Given the description of an element on the screen output the (x, y) to click on. 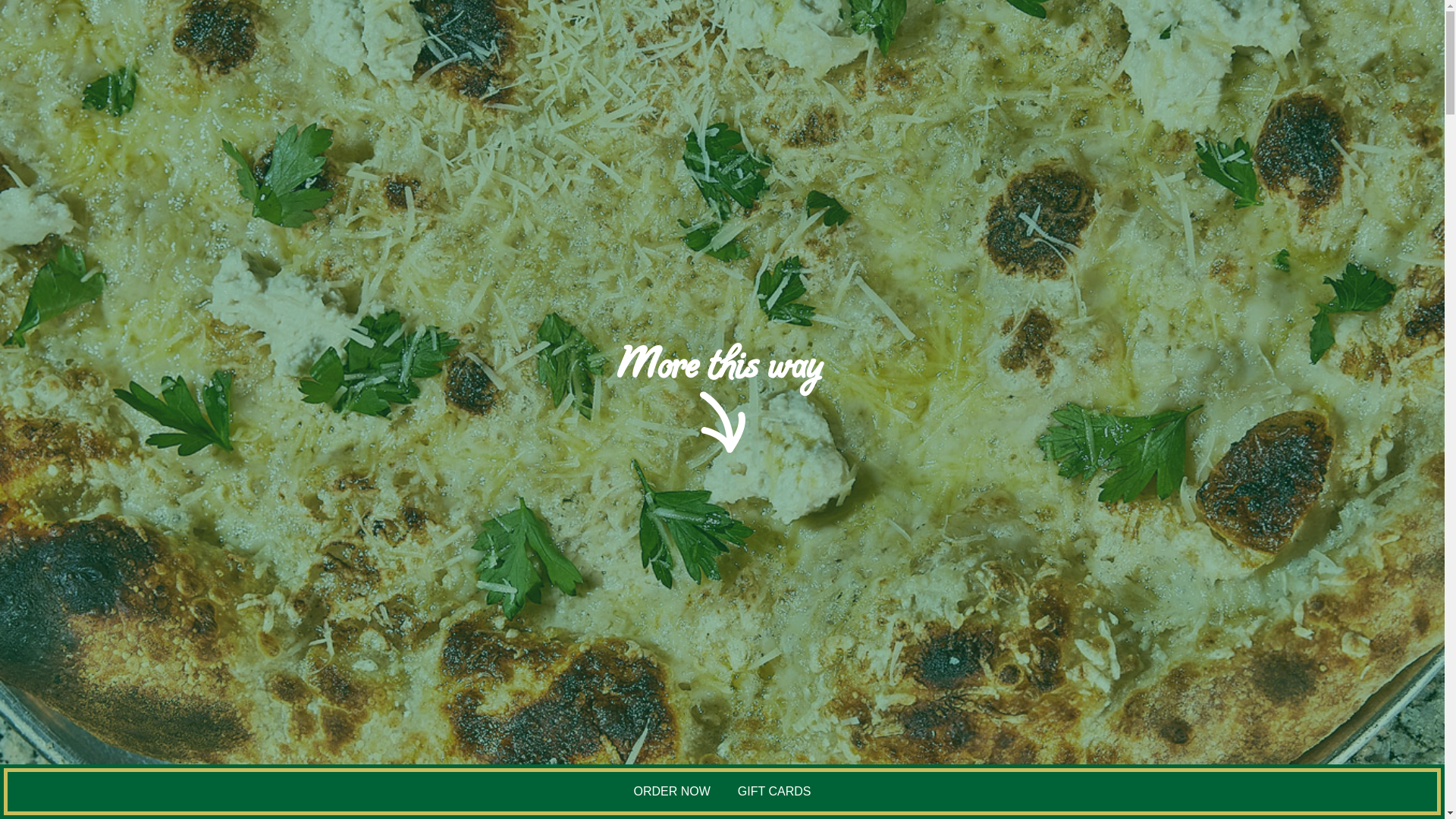
ORDER NOW Element type: text (672, 790)
GIFT CARDS Element type: text (774, 790)
